Given the description of an element on the screen output the (x, y) to click on. 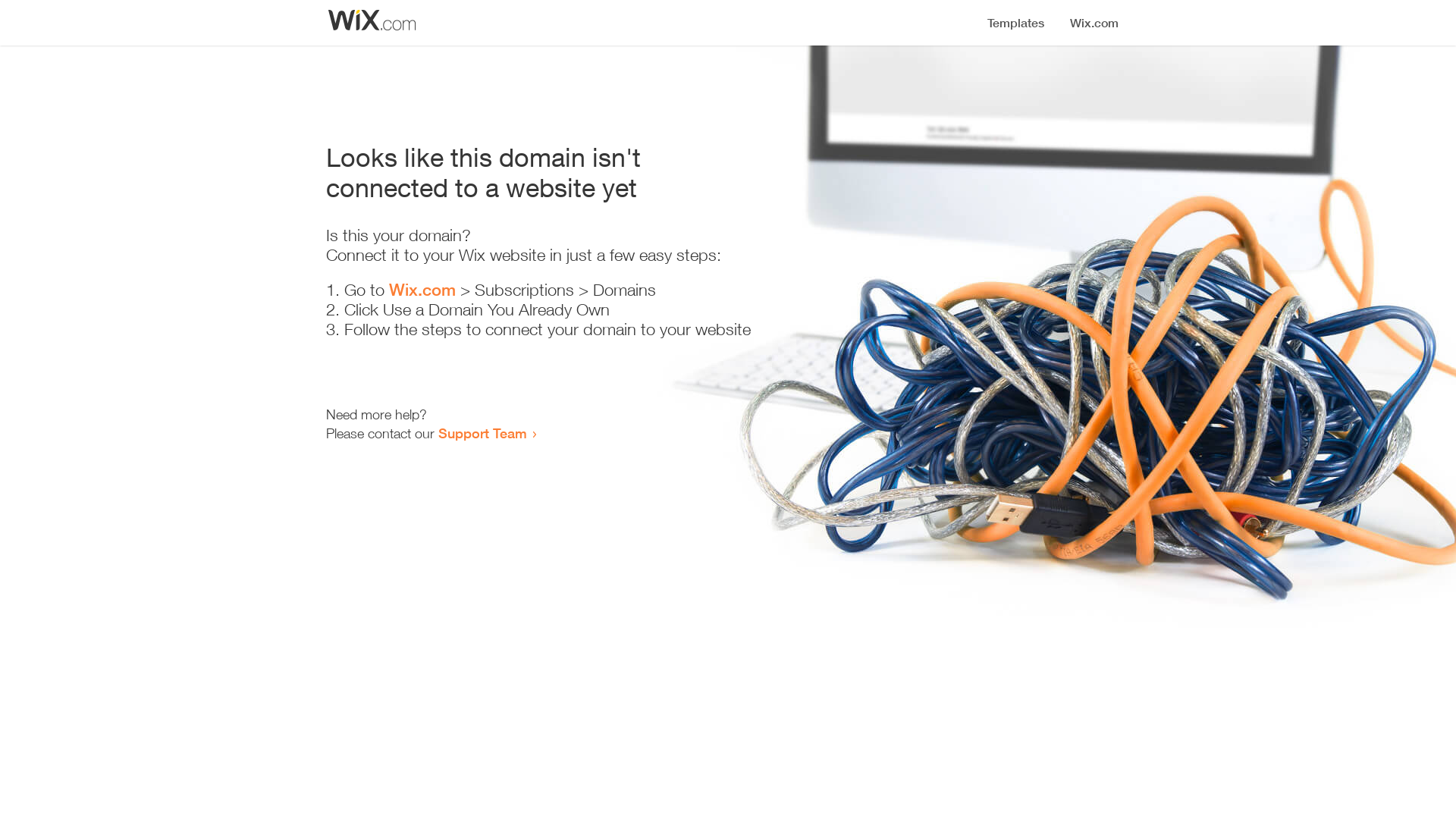
Wix.com Element type: text (422, 289)
Support Team Element type: text (482, 432)
